Given the description of an element on the screen output the (x, y) to click on. 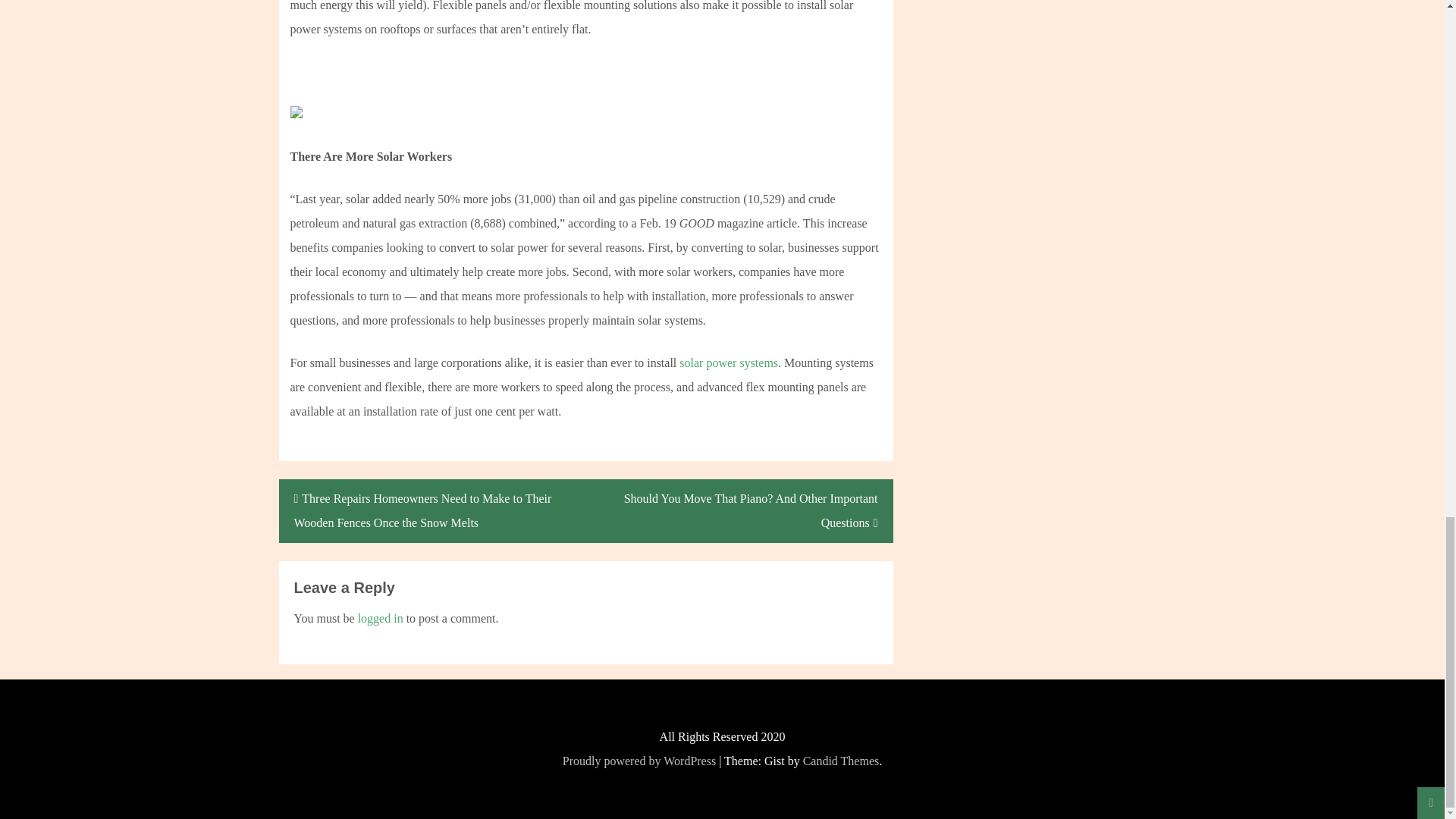
solar power systems (728, 362)
Learn more about Solar power (728, 362)
logged in (380, 617)
Should You Move That Piano? And Other Important Questions (738, 510)
